Given the description of an element on the screen output the (x, y) to click on. 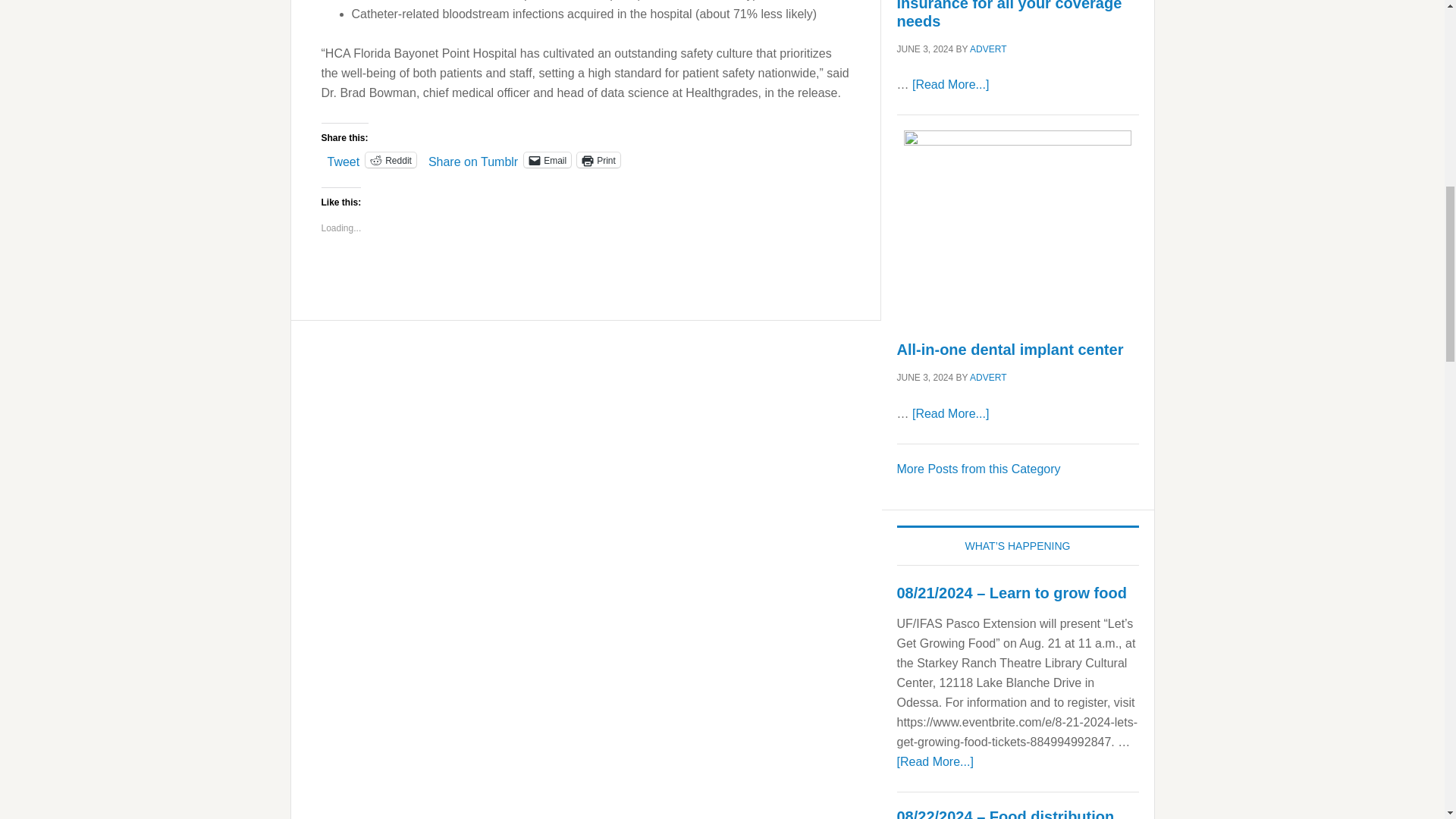
Click to share on Reddit (390, 159)
Click to print (598, 159)
Share on Tumblr (473, 159)
Click to email a link to a friend (547, 159)
Sponsored Content (977, 468)
